Given the description of an element on the screen output the (x, y) to click on. 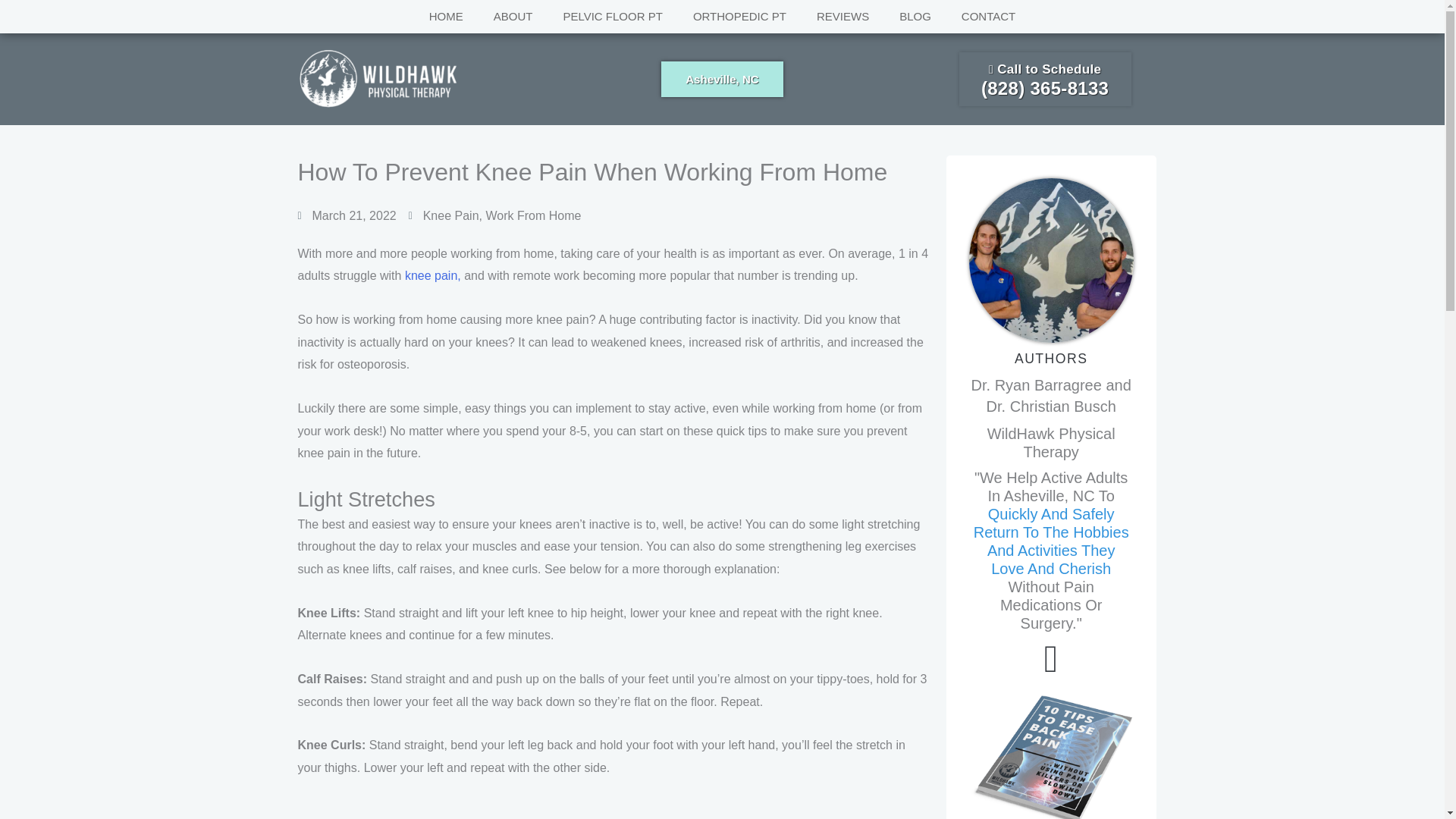
ABOUT (513, 16)
REVIEWS (842, 16)
PELVIC FLOOR PT (612, 16)
ORTHOPEDIC PT (740, 16)
CONTACT (988, 16)
HOME (446, 16)
BLOG (914, 16)
